Given the description of an element on the screen output the (x, y) to click on. 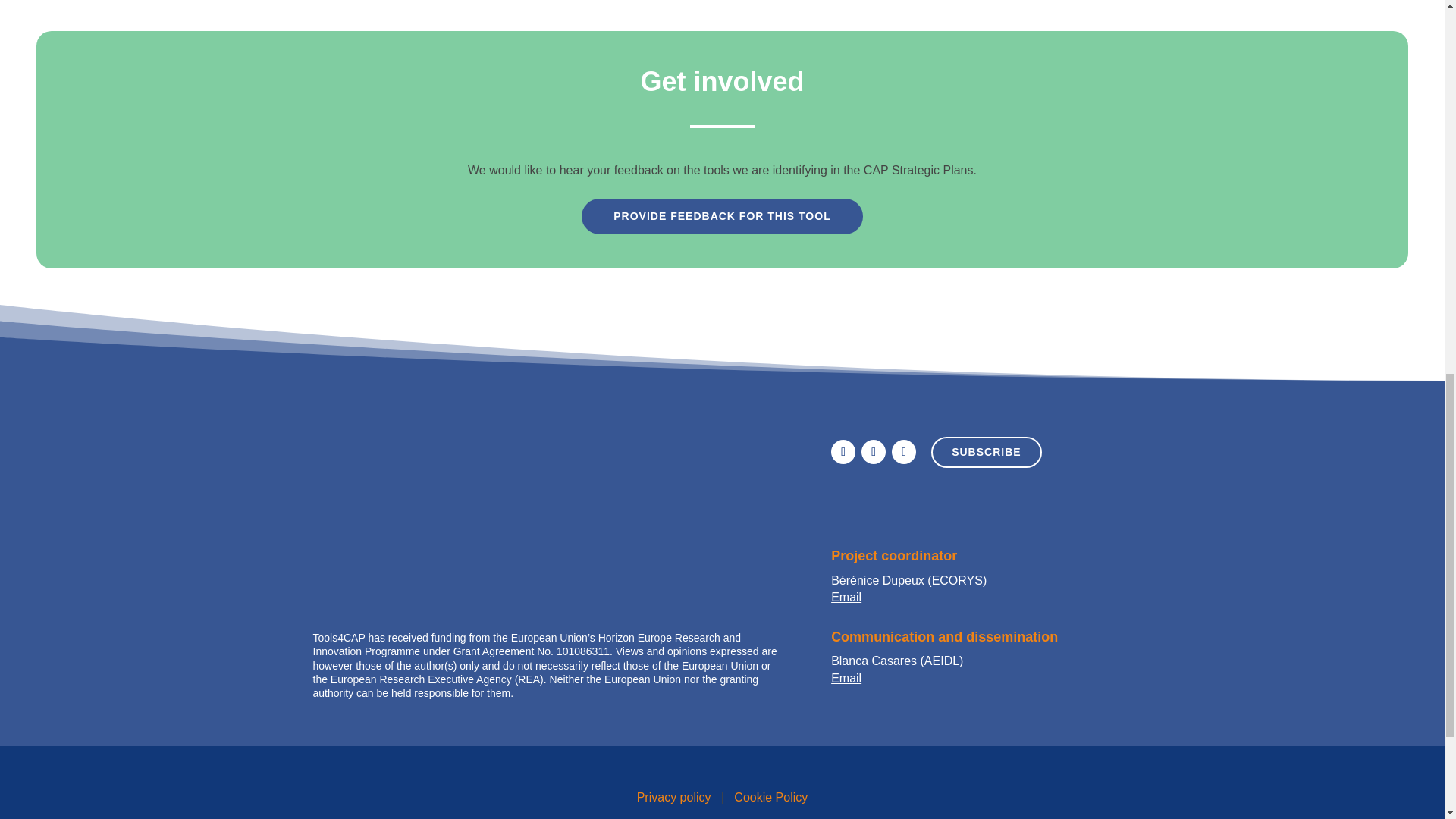
Follow on X (843, 451)
PROVIDE FEEDBACK FOR THIS TOOL (720, 217)
Follow on Youtube (903, 451)
funded-eu (446, 577)
Cookie Policy (770, 797)
Privacy policy (674, 797)
Follow on LinkedIn (873, 451)
Email (846, 677)
Email (846, 596)
SUBSCRIBE (986, 452)
